Given the description of an element on the screen output the (x, y) to click on. 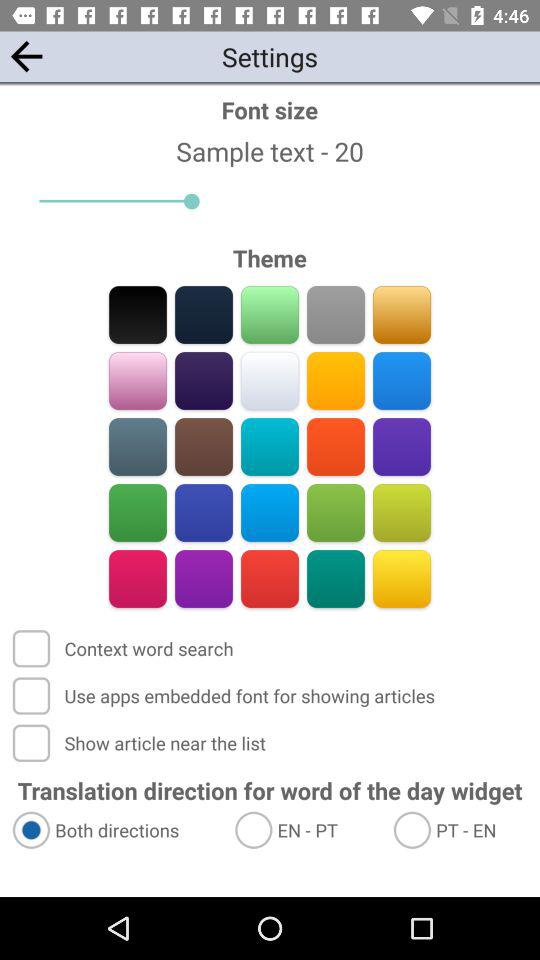
choose the app above translation direction for (141, 742)
